Given the description of an element on the screen output the (x, y) to click on. 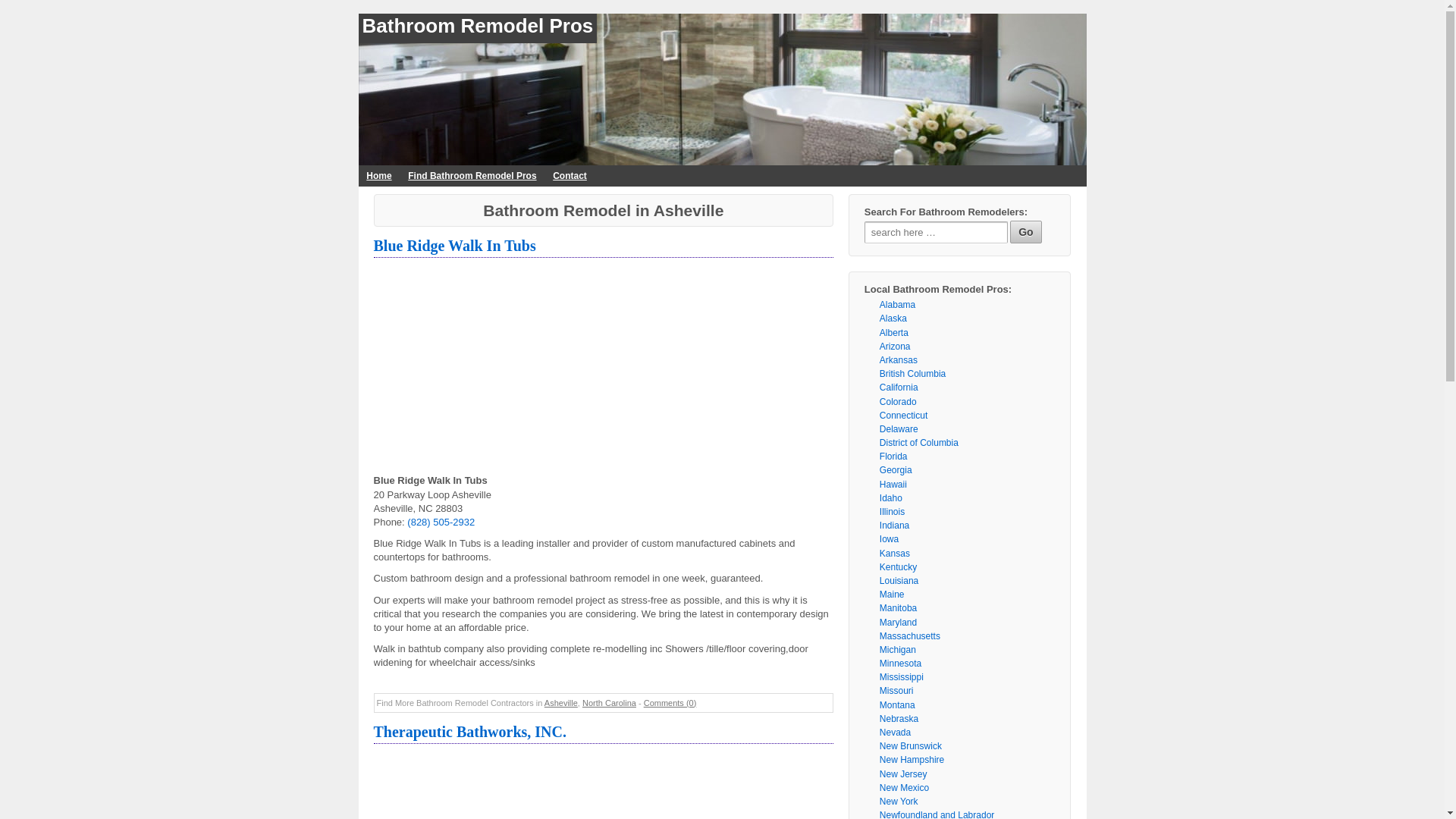
Contact (569, 175)
Bathroom Remodel in Arizona (895, 346)
Alberta (893, 332)
Bathroom Remodel in Arkansas (898, 359)
Home (378, 175)
Therapeutic Bathworks, INC. - Bathroom Remodel (469, 731)
Go (1025, 231)
British Columbia (911, 373)
Florida (893, 456)
Therapeutic Bathworks, INC. (469, 731)
Arkansas (898, 359)
Bathroom Remodel in Alberta (893, 332)
Home (378, 175)
Alaska (893, 317)
Bathroom Remodel in California (898, 387)
